Given the description of an element on the screen output the (x, y) to click on. 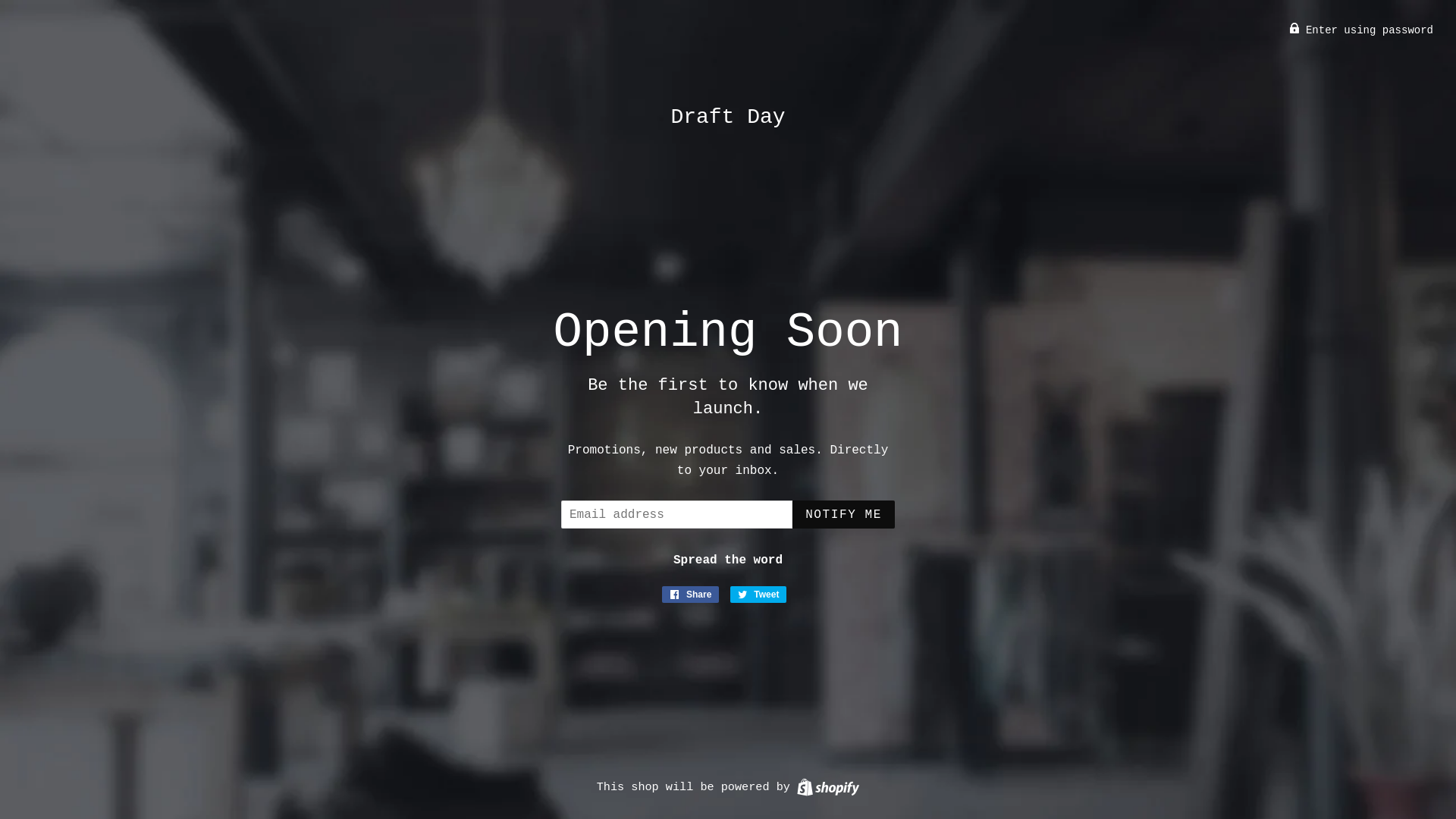
Shopify logo
Shopify Element type: text (828, 786)
Tweet
Tweet on Twitter Element type: text (758, 594)
Share
Share on Facebook Element type: text (690, 594)
Lock icon Enter using password Element type: text (1361, 30)
NOTIFY ME Element type: text (843, 514)
